Given the description of an element on the screen output the (x, y) to click on. 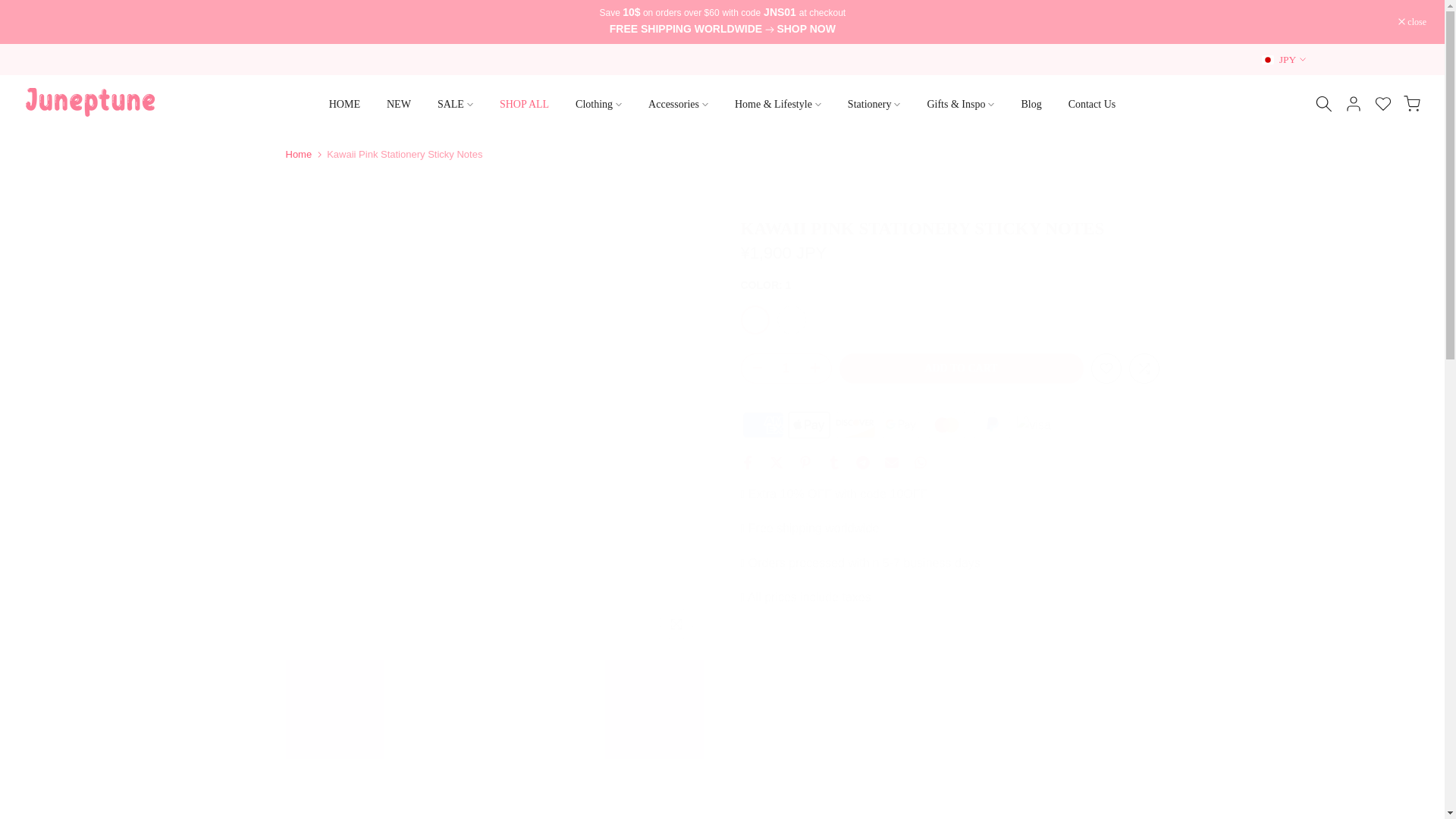
Skip to content (10, 7)
Share on Tumblr (833, 462)
Share on Facebook (746, 462)
Share on Telegram (862, 462)
Share on WhatsApp (919, 462)
Share on Twitter (775, 462)
close (1411, 21)
SHOP NOW (805, 29)
JPY (1284, 59)
1 (786, 368)
